Given the description of an element on the screen output the (x, y) to click on. 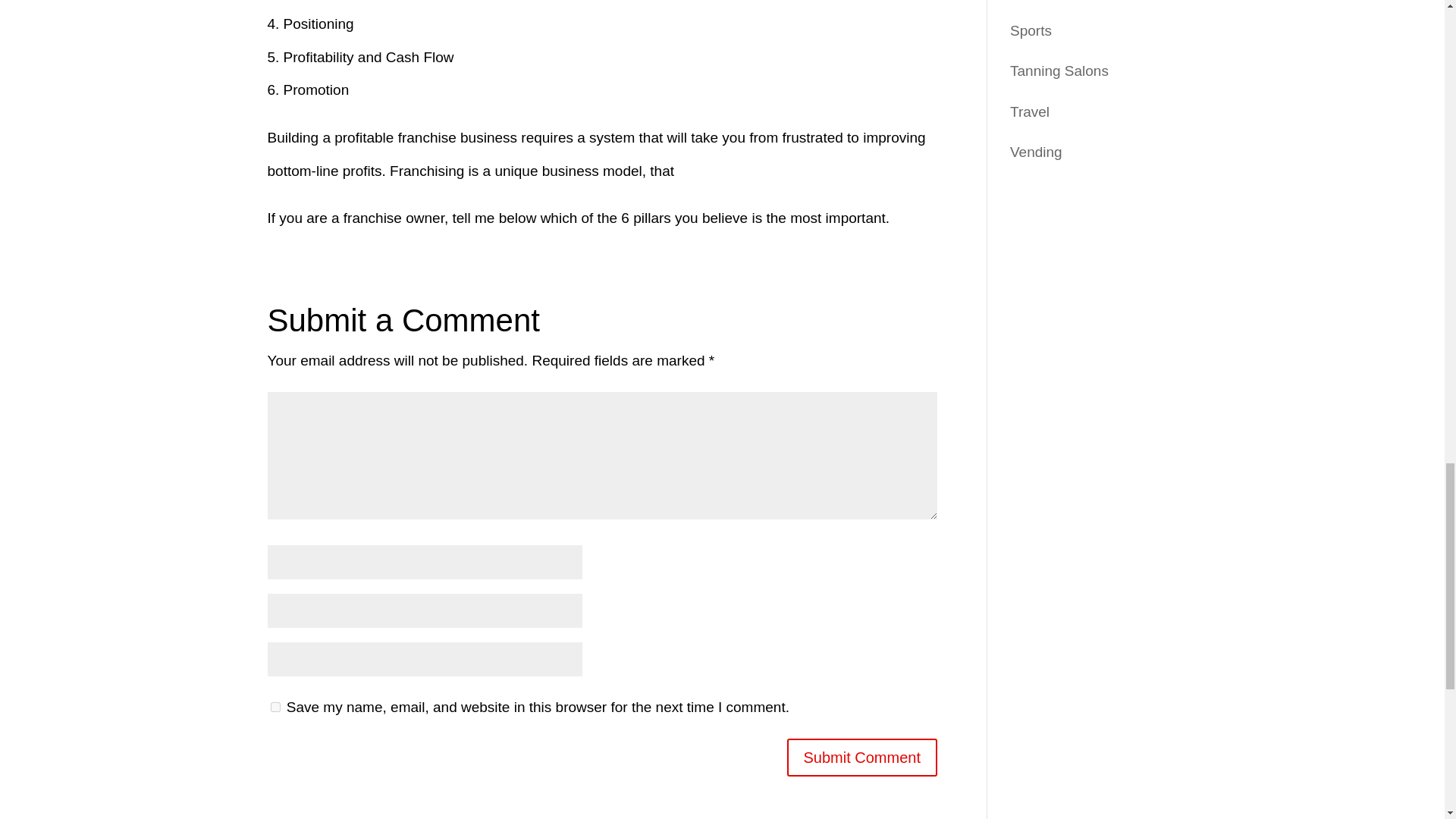
yes (274, 706)
Submit Comment (862, 757)
Submit Comment (862, 757)
